Given the description of an element on the screen output the (x, y) to click on. 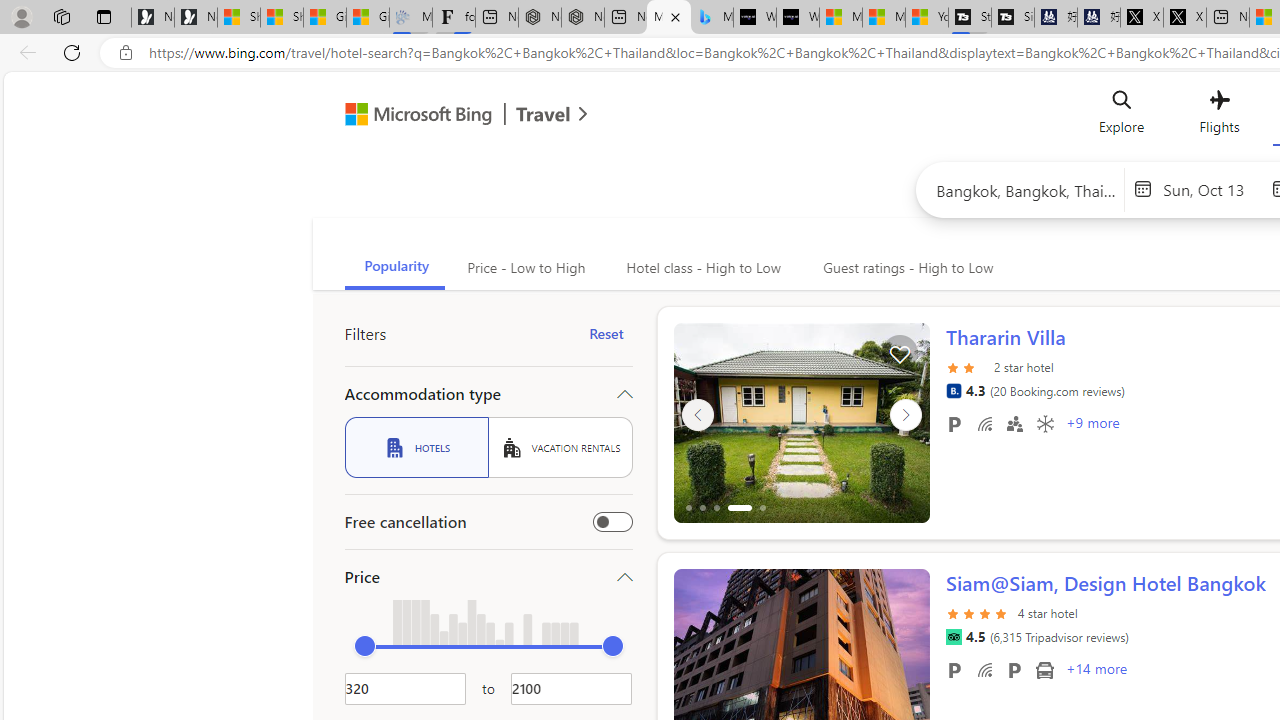
Newsletter Sign Up (196, 17)
Free WiFi (984, 669)
Workspaces (61, 16)
Price - Low to High (524, 268)
Shanghai, China weather forecast | Microsoft Weather (282, 17)
